Given the description of an element on the screen output the (x, y) to click on. 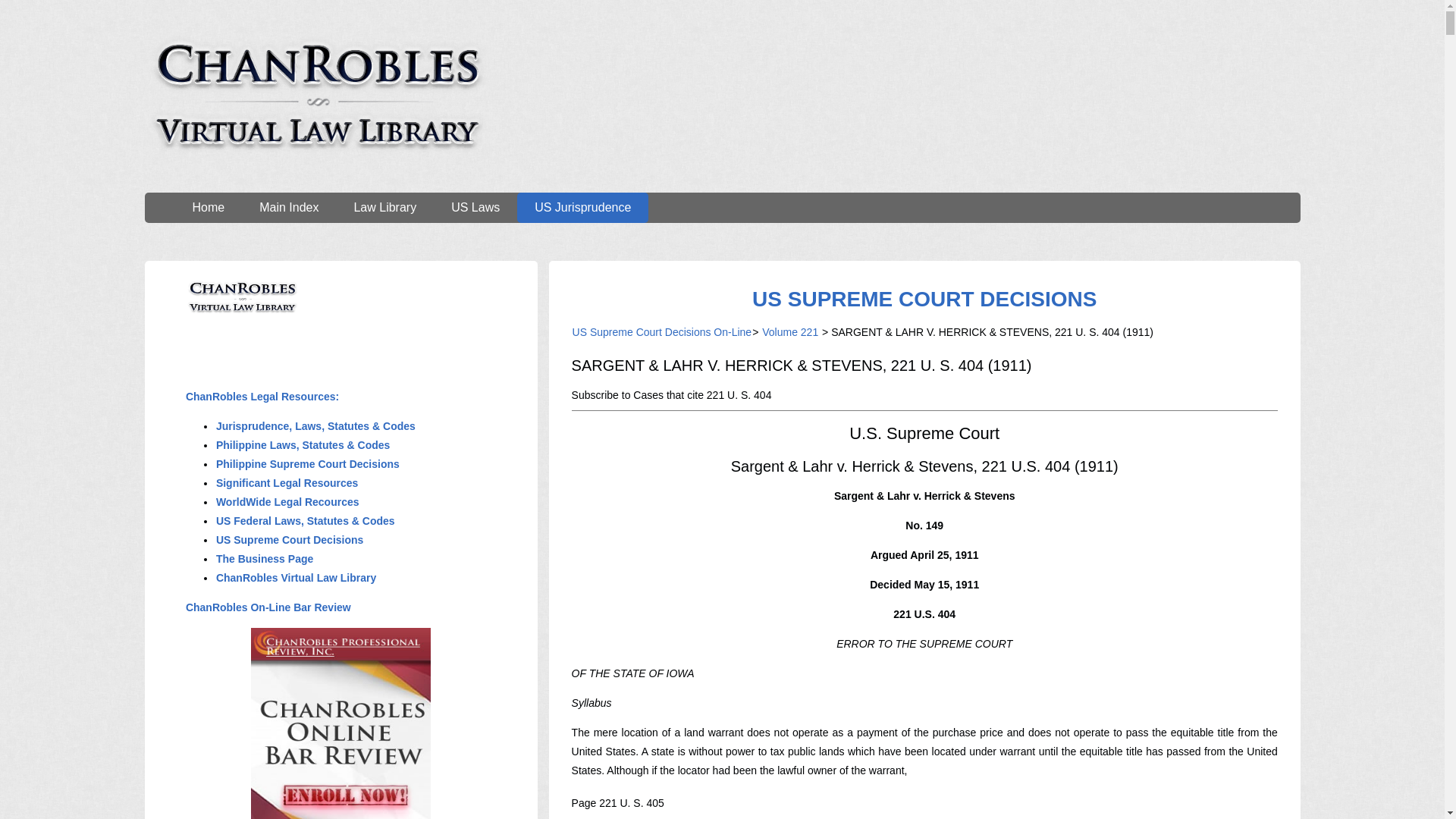
US Supreme Court Decisions (290, 539)
Philippine Supreme Court Decisions (307, 463)
ChanRobles Virtual Law Library (296, 577)
Volume 221 (789, 331)
Page 221 U. S. 405 (617, 802)
ChanRobles Legal Resources: (261, 396)
Significant Legal Resources (287, 482)
ChanRobles On-Line Bar Review (268, 607)
United States Supreme Court Decisions - On-Line (924, 299)
Main Index (288, 207)
US SUPREME COURT DECISIONS (924, 299)
US Jurisprudence (581, 207)
US Supreme Court Decisions On-Line (662, 331)
Home (207, 207)
WorldWide Legal Recources (287, 501)
